Given the description of an element on the screen output the (x, y) to click on. 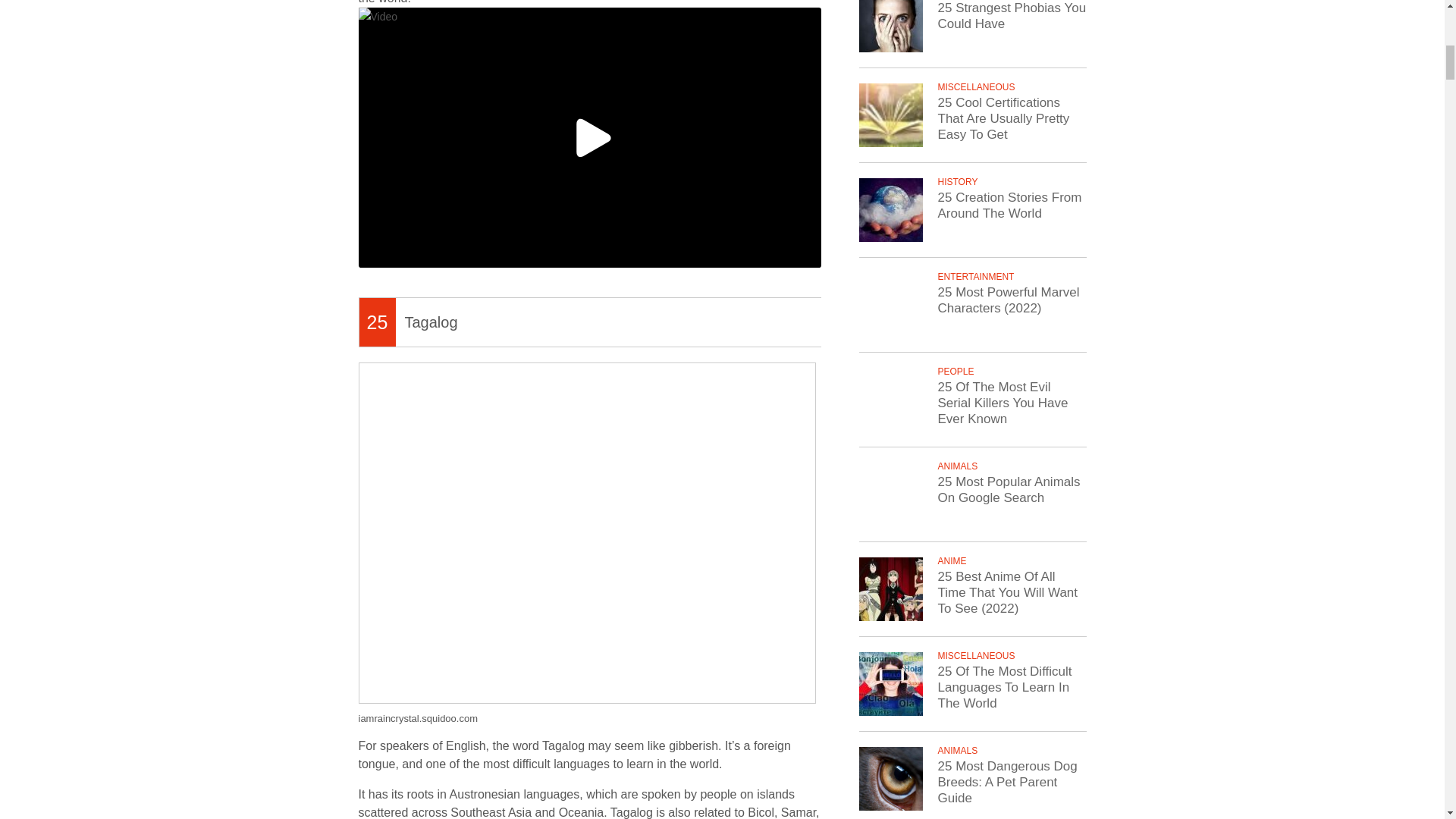
25 of the most difficult languages to learn in the world 1 (589, 137)
